Given the description of an element on the screen output the (x, y) to click on. 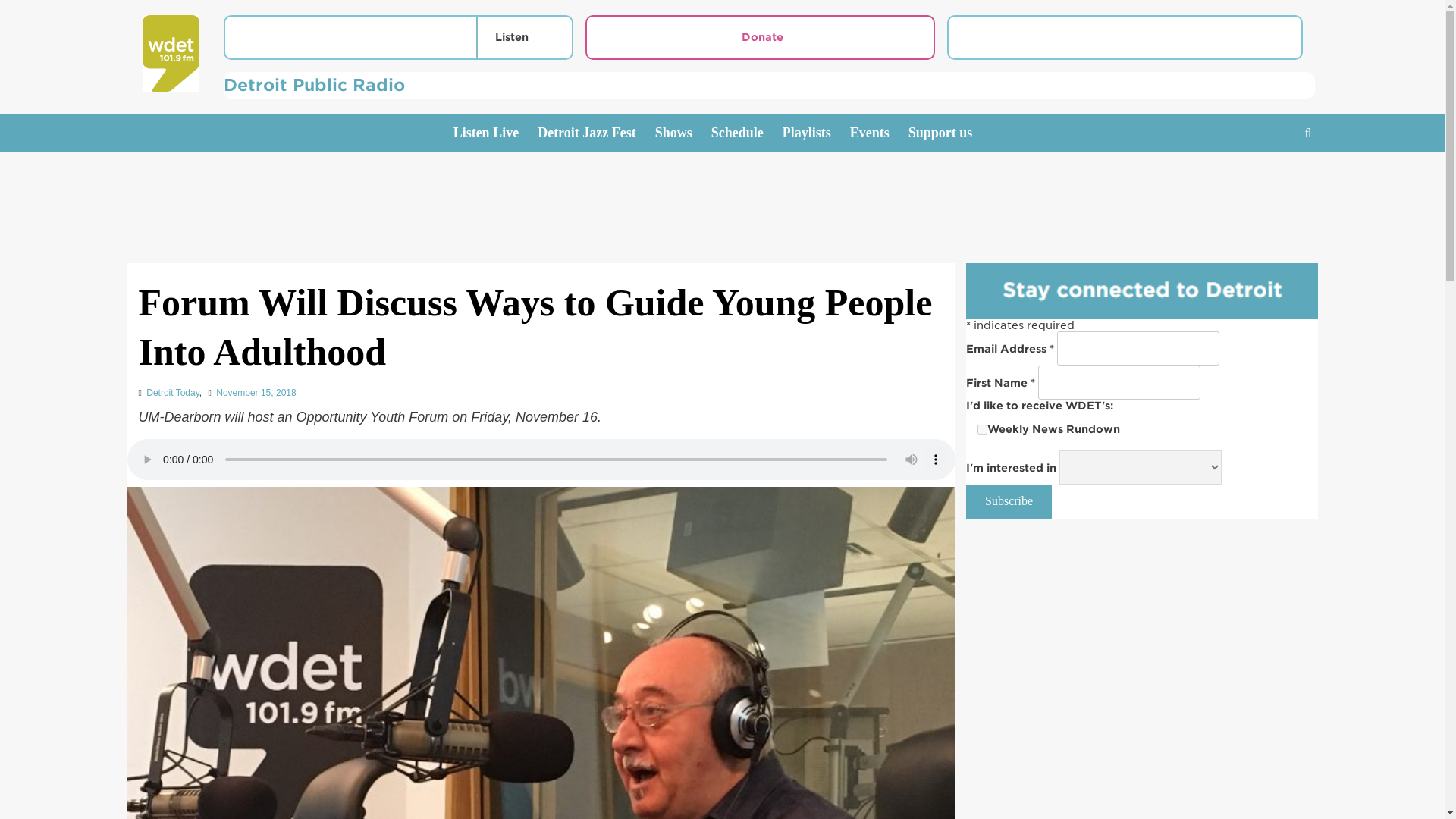
Search (1272, 179)
Listen (508, 36)
Donate (759, 37)
Events (879, 132)
Support us (949, 132)
Detroit Today (173, 392)
Shows (683, 132)
Listen Live (495, 132)
1 (981, 429)
Detroit Today (173, 392)
